Given the description of an element on the screen output the (x, y) to click on. 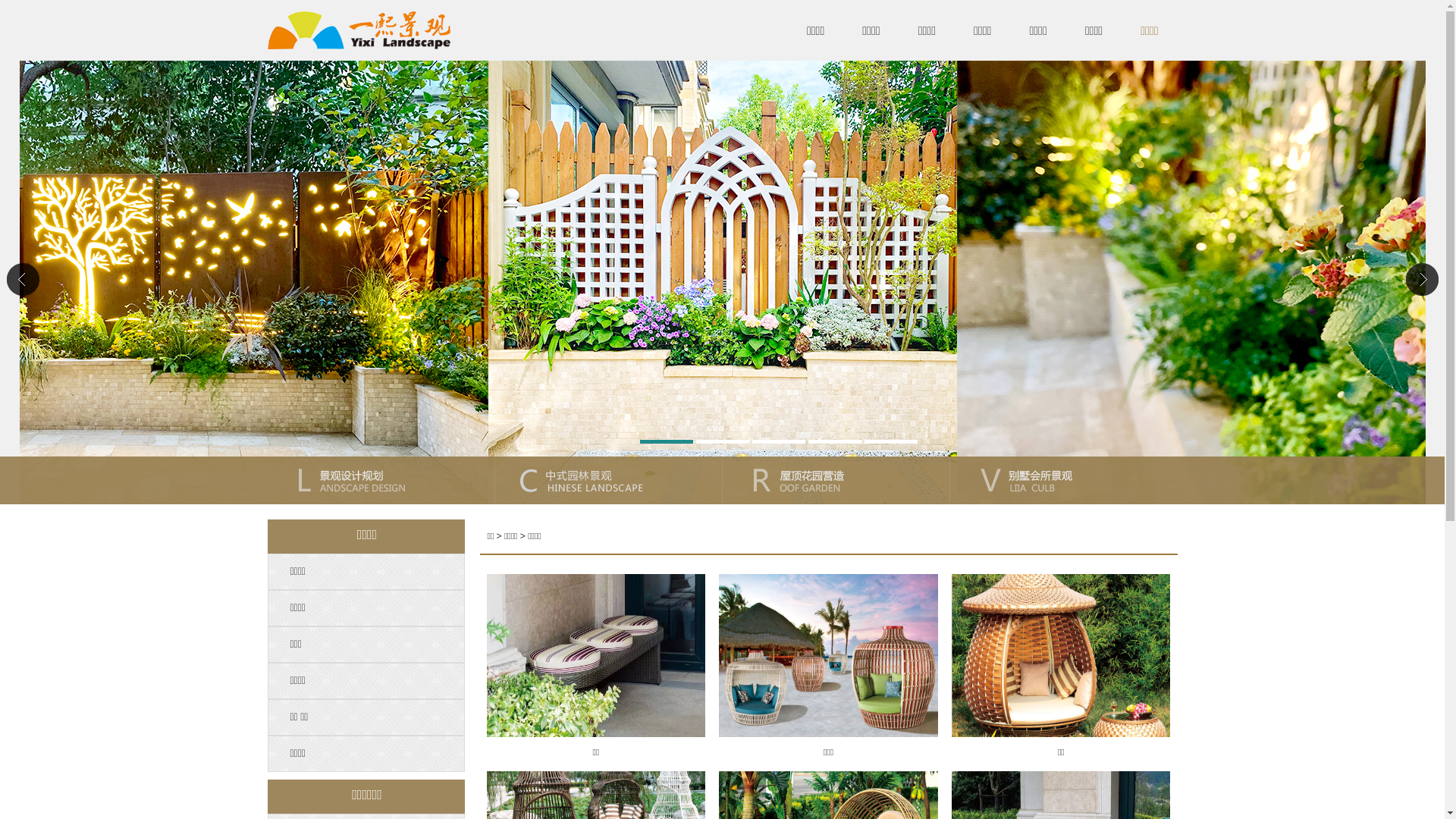
1 Element type: text (666, 441)
3 Element type: text (778, 441)
2 Element type: text (722, 441)
4 Element type: text (834, 441)
5 Element type: text (890, 441)
